Given the description of an element on the screen output the (x, y) to click on. 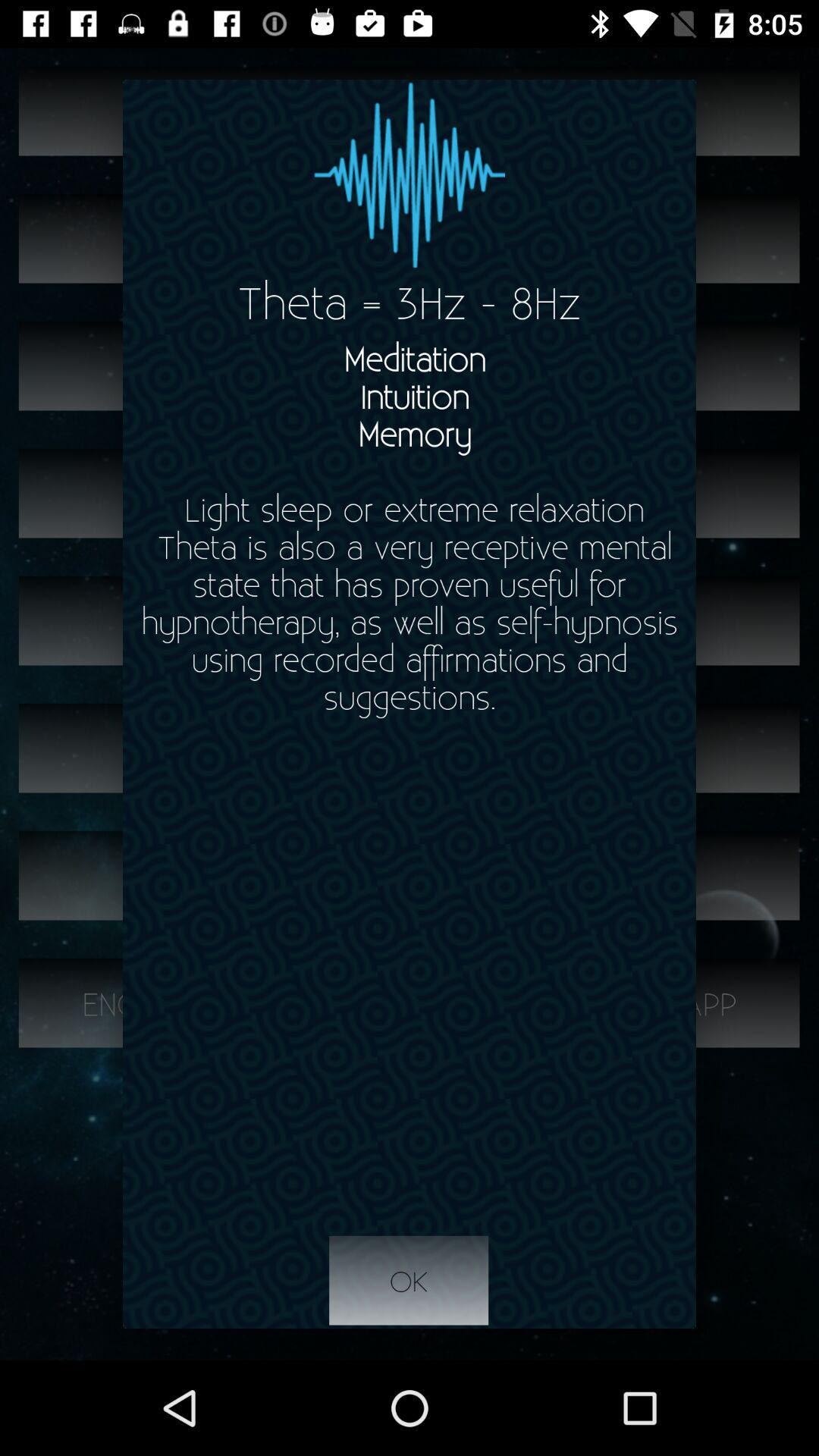
turn off the icon at the bottom (408, 1280)
